Given the description of an element on the screen output the (x, y) to click on. 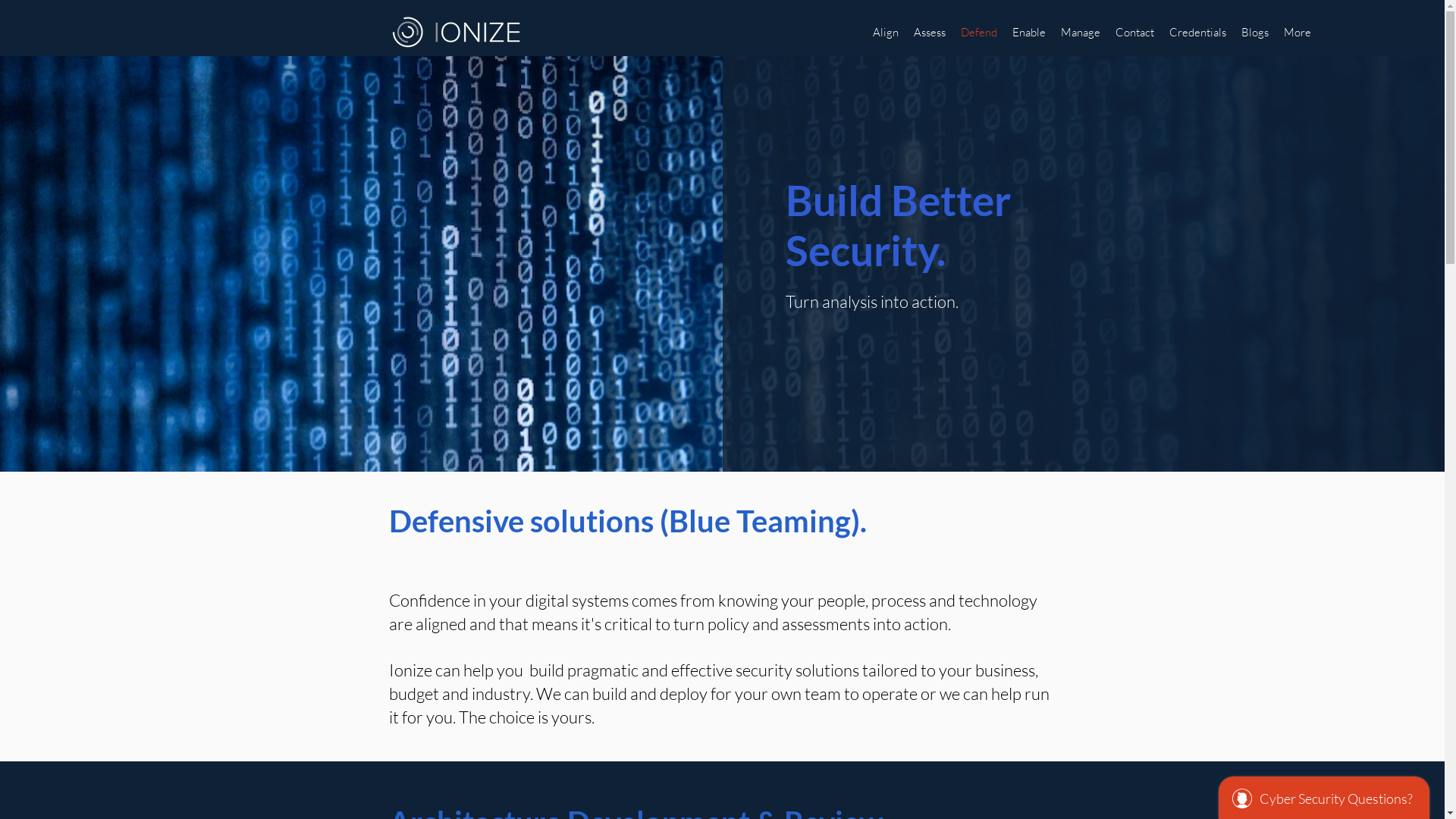
Contact Element type: text (1134, 32)
Enable Element type: text (1028, 32)
Manage Element type: text (1080, 32)
Assess Element type: text (929, 32)
Defend Element type: text (978, 32)
Blogs Element type: text (1254, 32)
Credentials Element type: text (1197, 32)
Align Element type: text (885, 32)
